Given the description of an element on the screen output the (x, y) to click on. 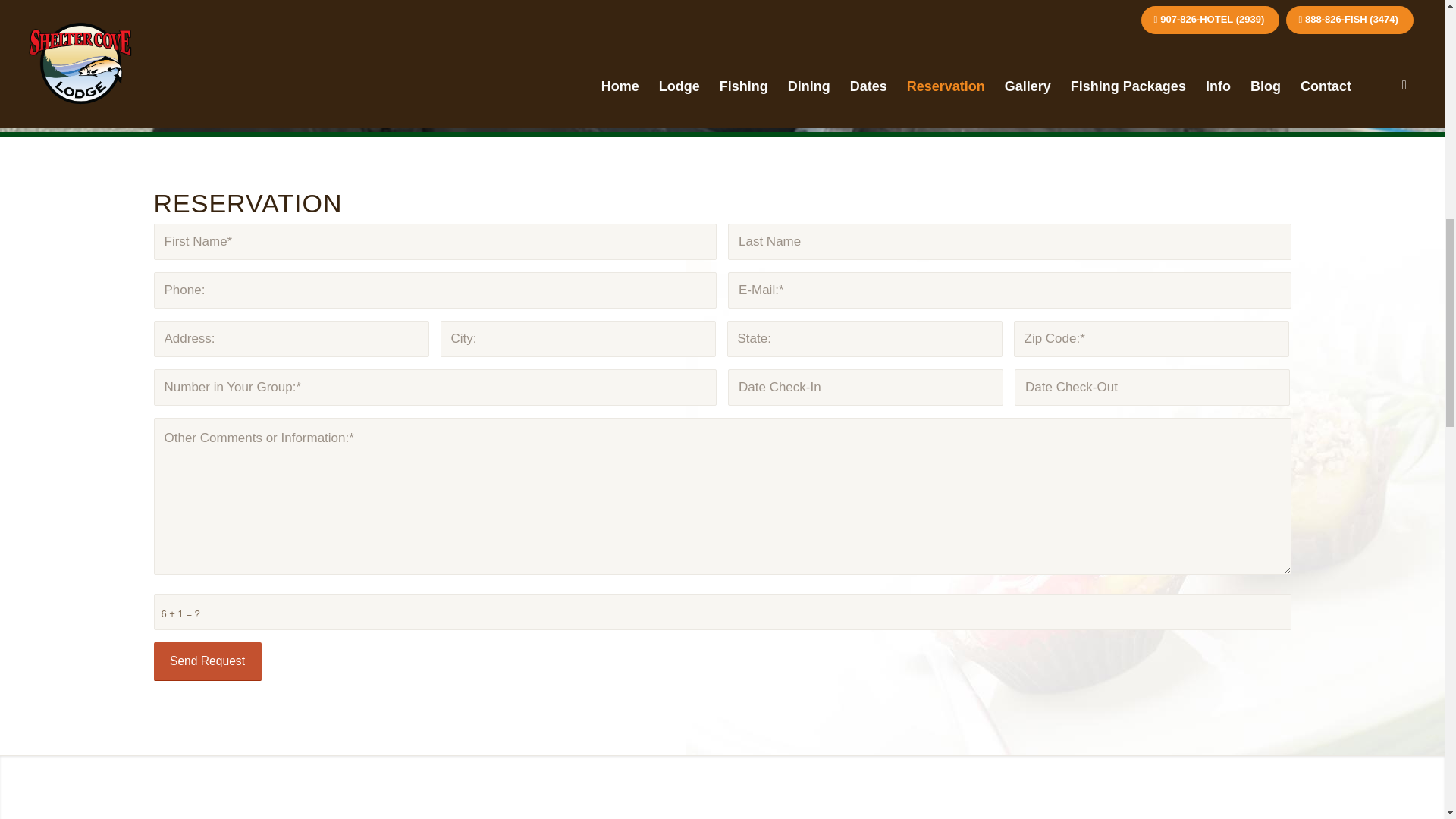
Send Request (206, 661)
Send Request (206, 661)
